Given the description of an element on the screen output the (x, y) to click on. 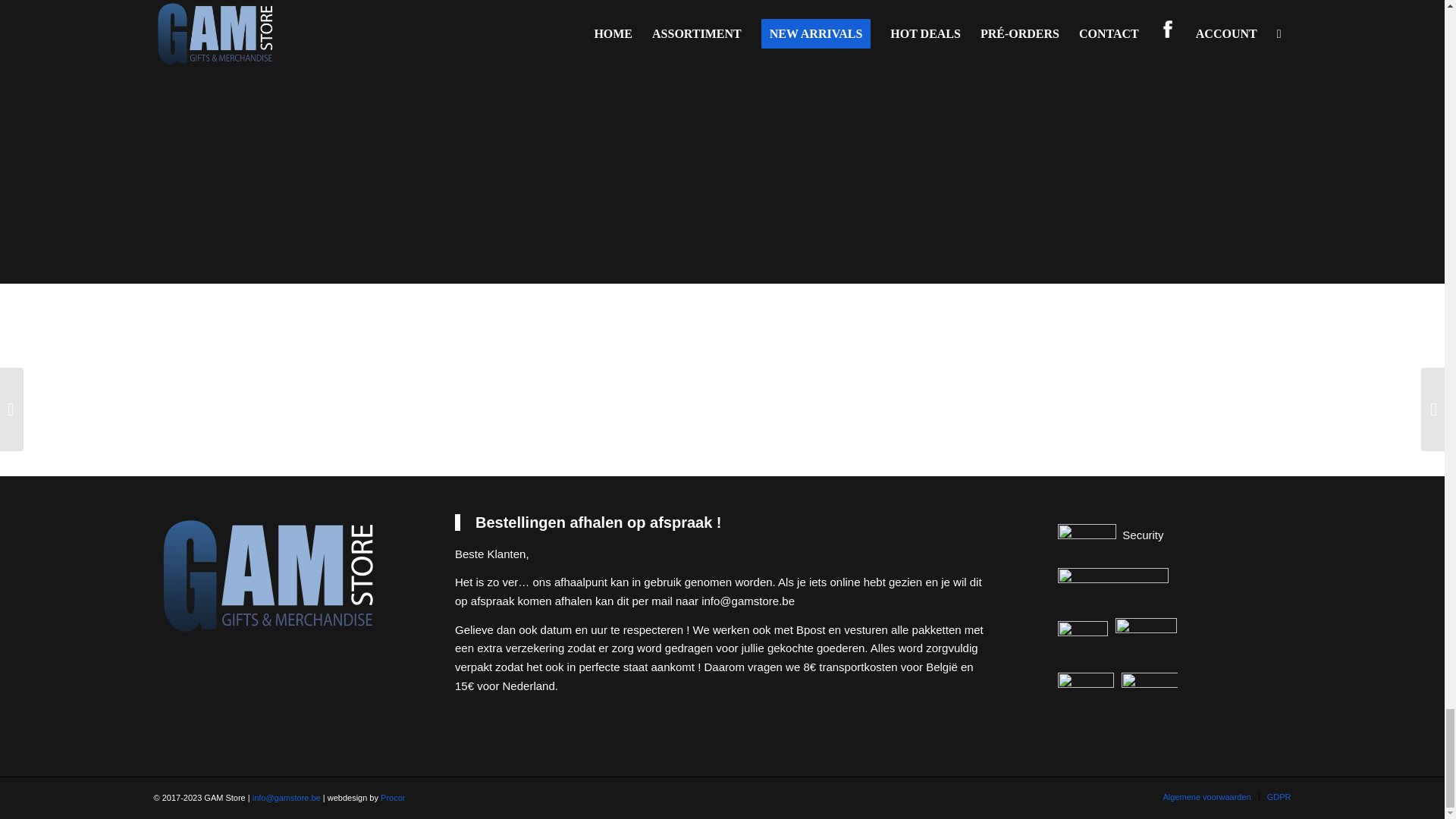
GAM Store logo (269, 576)
